Given the description of an element on the screen output the (x, y) to click on. 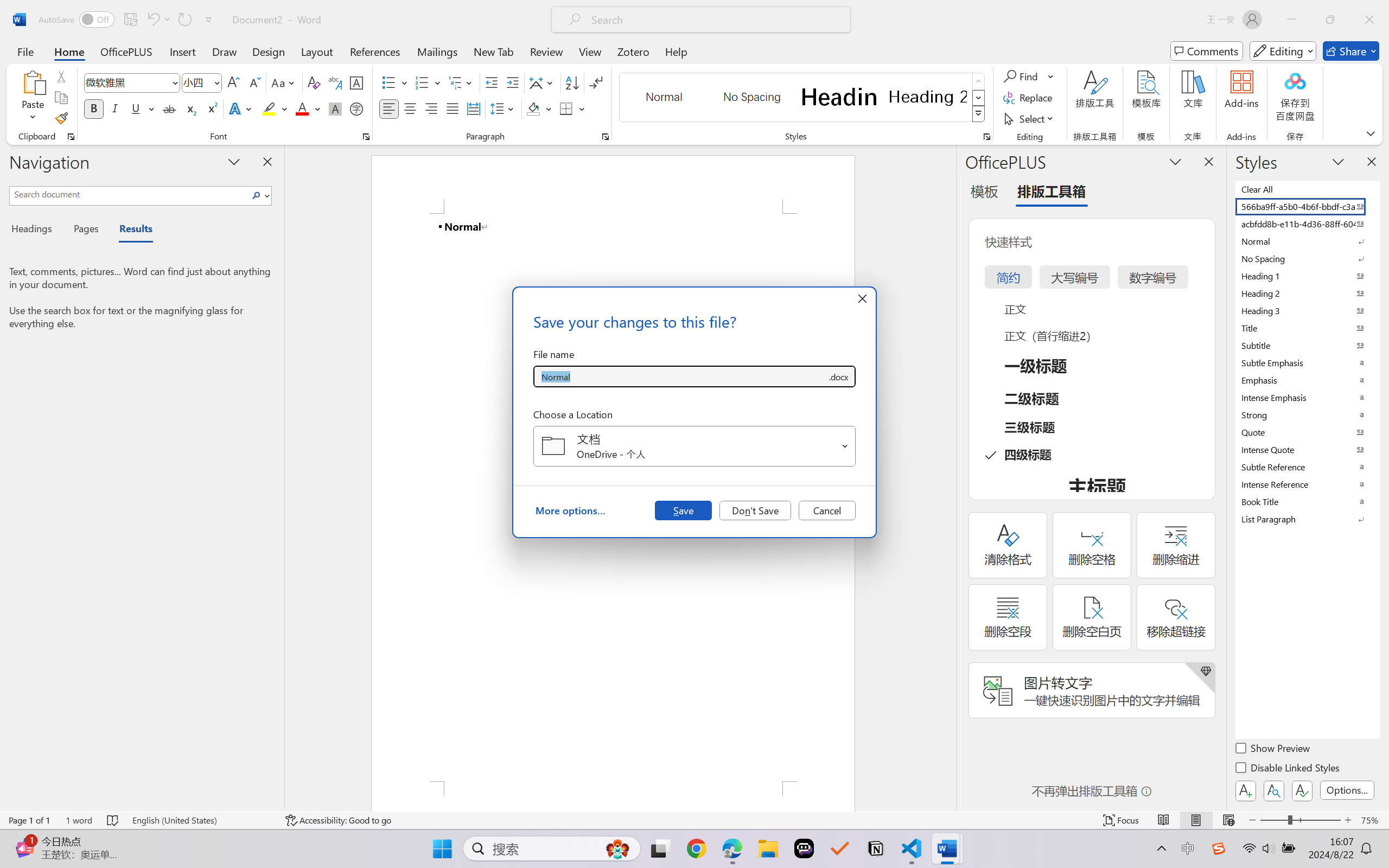
Italic (115, 108)
Choose a Location (694, 446)
Don't Save (755, 509)
Disable Linked Styles (1287, 769)
Strong (1306, 414)
Heading 3 (1306, 310)
Select (1030, 118)
Restore Down (1330, 19)
Share (1350, 51)
View (589, 51)
